Given the description of an element on the screen output the (x, y) to click on. 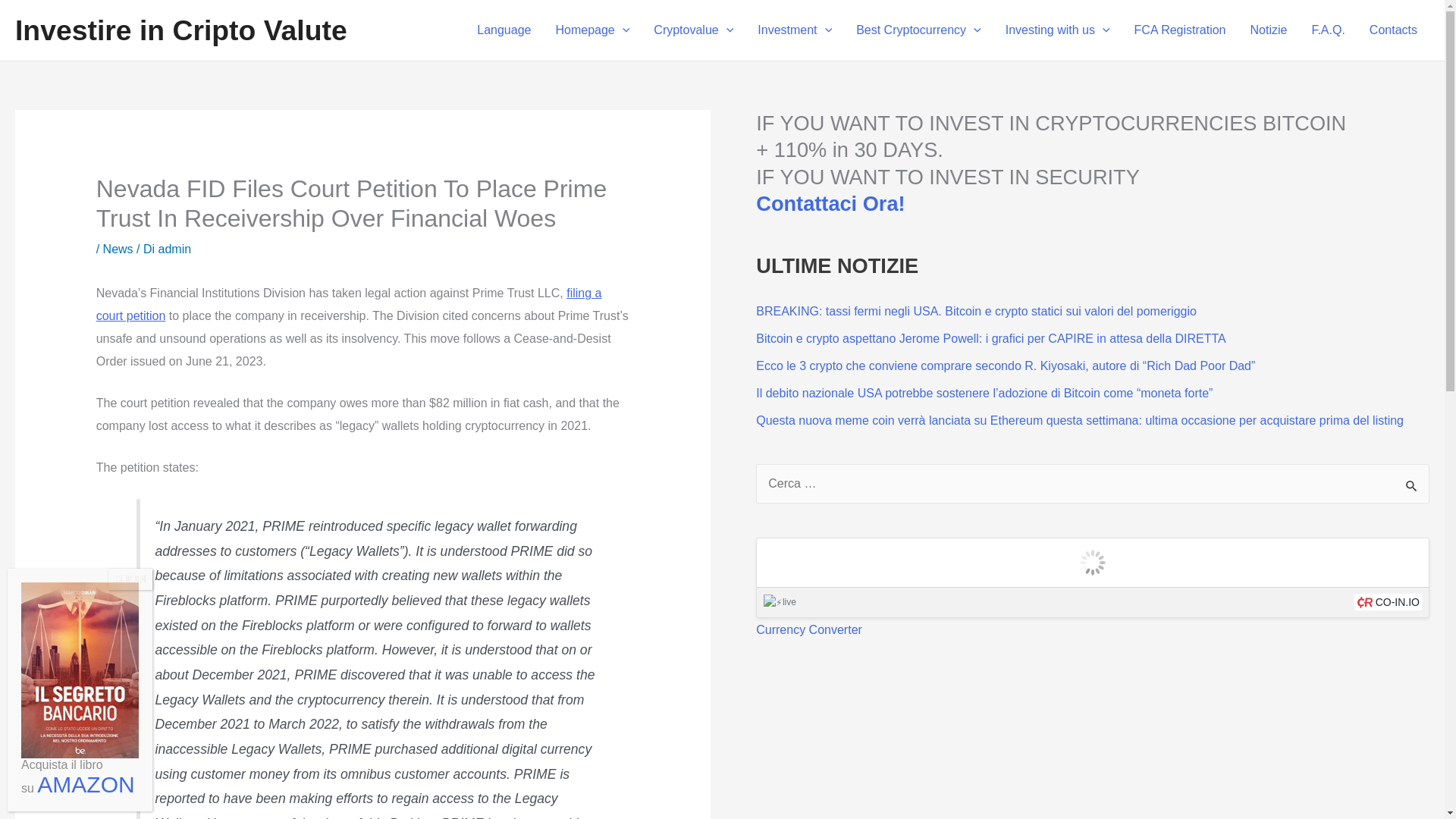
Investment (794, 30)
FCA Registration (1180, 30)
Notizie (1267, 30)
Investing with us (1057, 30)
Language (503, 30)
Homepage (592, 30)
Contacts (1392, 30)
Best Cryptocurrency (918, 30)
Visualizza tutti gli articoli di admin (175, 248)
Investire in Cripto Valute (180, 29)
Cryptovalue (693, 30)
F.A.Q. (1327, 30)
